Given the description of an element on the screen output the (x, y) to click on. 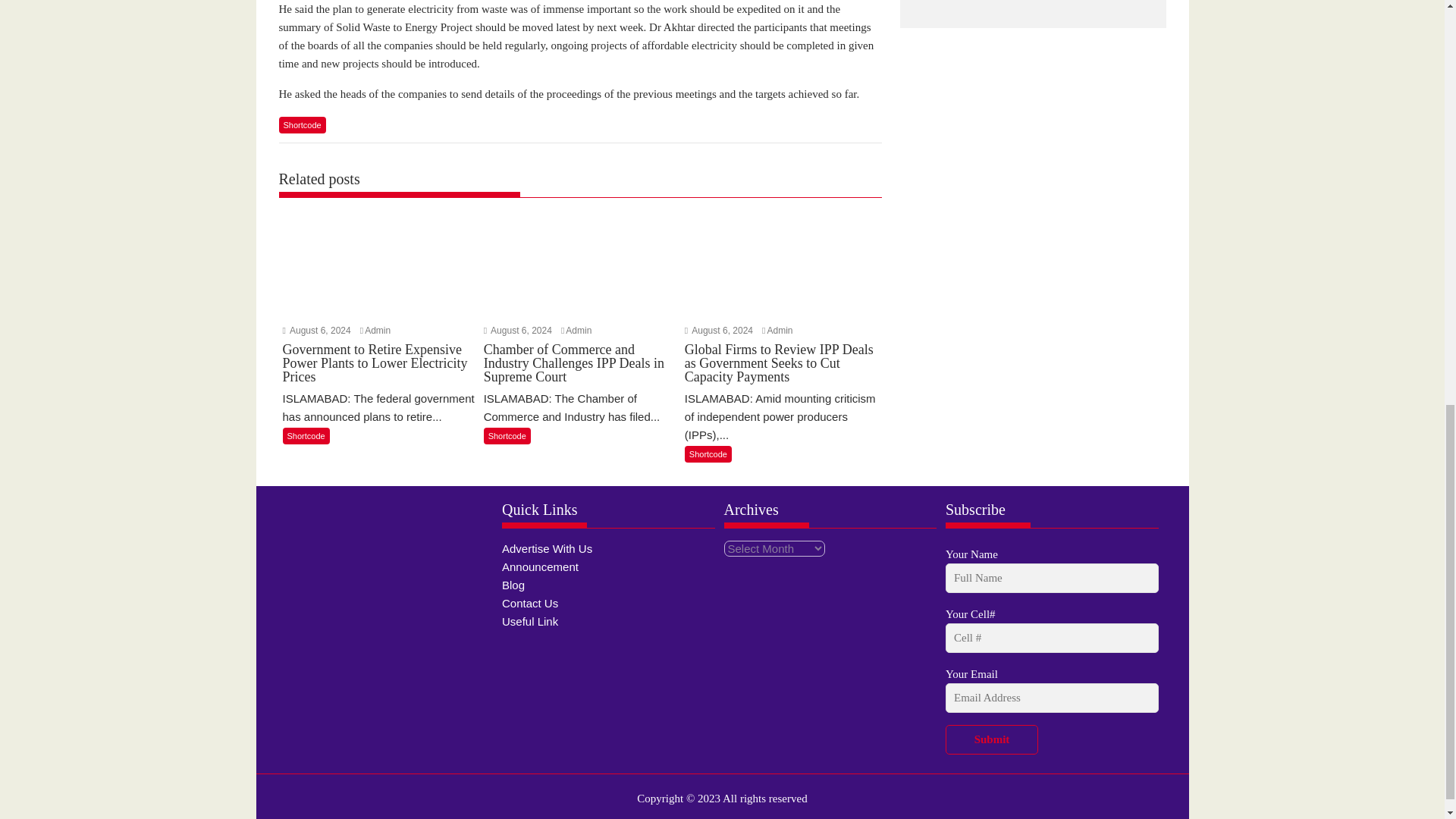
Admin (779, 330)
Admin (578, 330)
Admin (377, 330)
Submit (991, 739)
